Given the description of an element on the screen output the (x, y) to click on. 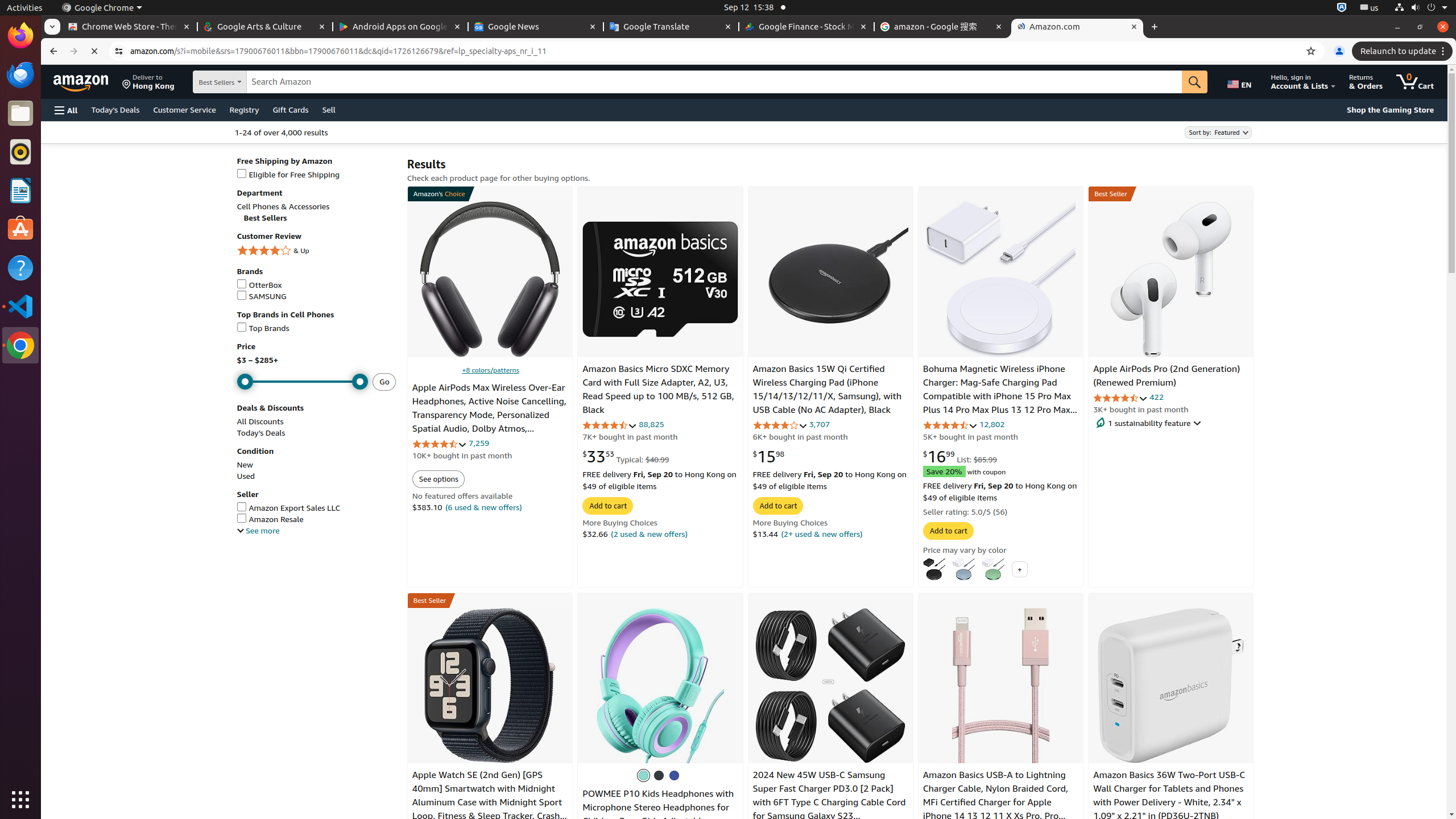
(6 used & new offers) Element type: link (483, 506)
Amazon Resale Element type: list-item (315, 519)
Reload Element type: push-button (94, 50)
Minimum Element type: slider (302, 381)
+8 colors/patterns Element type: link (490, 369)
